Given the description of an element on the screen output the (x, y) to click on. 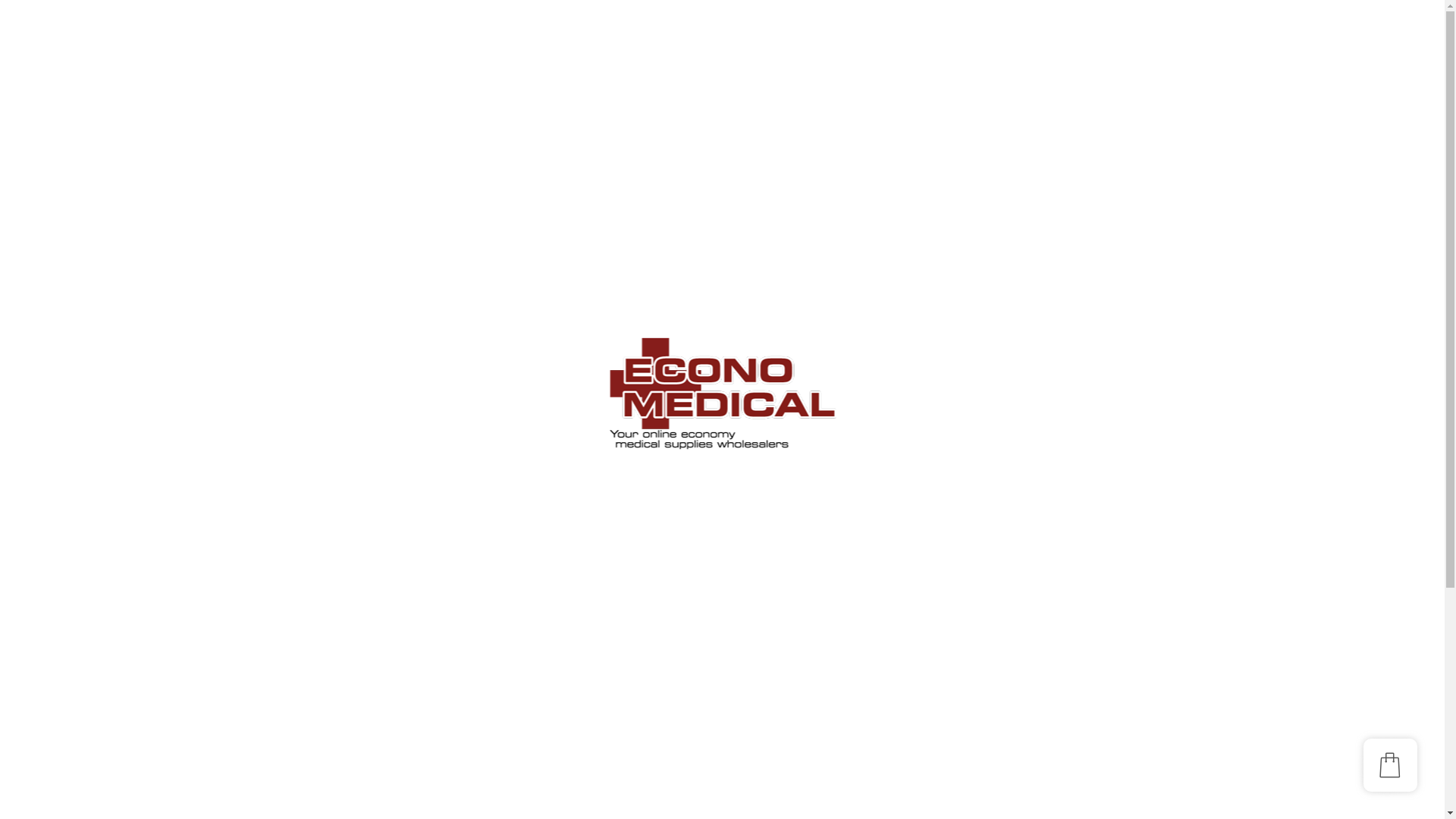
Smart-V-Link software for the V3 and Smartdop45 Element type: text (1099, 588)
Ishihara 24-Plate Colour Blindness Test Element type: text (1099, 644)
sales@economedical.com.au Element type: text (1126, 211)
Search Element type: hover (664, 79)
Home Element type: text (500, 163)
57mmx15m Roll x 8 Thermal Paper for Smartdop 45 Element type: text (1099, 531)
Cart Element type: text (496, 227)
UPP-110HG High Gloss Printing Paper - Box of 10 Rolls SONY Element type: text (1099, 417)
Tuning Fork C128 with Weights Economy Version Element type: text (1099, 474)
Search Element type: text (472, 441)
Submit Element type: text (461, 99)
Menu Element type: text (702, 147)
Cryo; Cryosurgery; Histofreezer; Histo Element type: text (1097, 773)
My account Element type: text (514, 195)
Search Element type: text (1156, 323)
Shop Element type: text (498, 179)
Checkout Element type: text (509, 243)
02 4337 8155 Element type: text (1084, 195)
Wishlist Element type: text (505, 211)
